Given the description of an element on the screen output the (x, y) to click on. 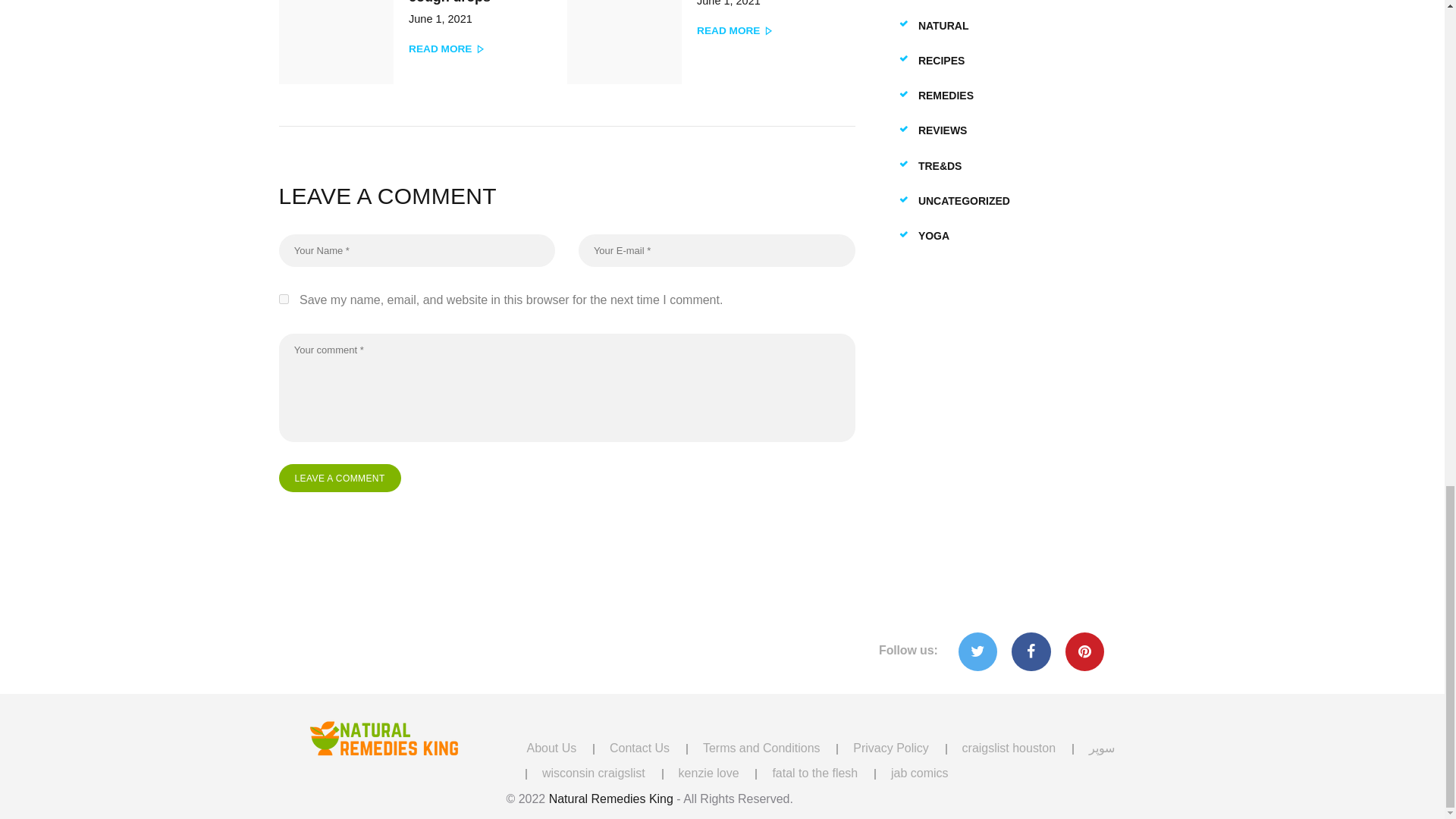
Leave a comment (340, 478)
yes (283, 298)
Leave a comment (705, 49)
